Given the description of an element on the screen output the (x, y) to click on. 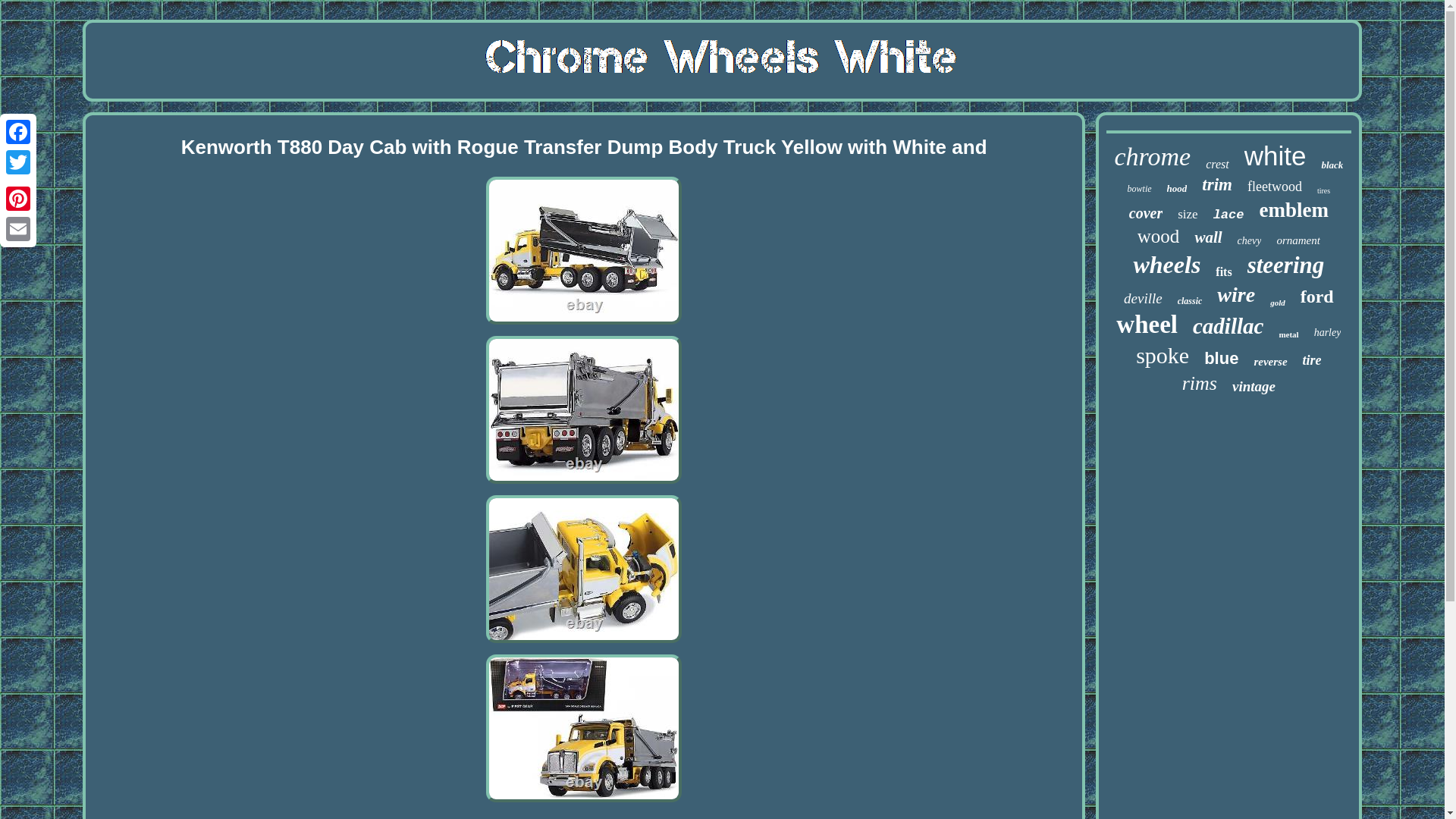
gold (1277, 302)
wire (1236, 294)
bowtie (1138, 188)
size (1186, 214)
chrome (1152, 156)
tires (1323, 190)
ford (1316, 296)
Facebook (17, 132)
cadillac (1227, 326)
